Given the description of an element on the screen output the (x, y) to click on. 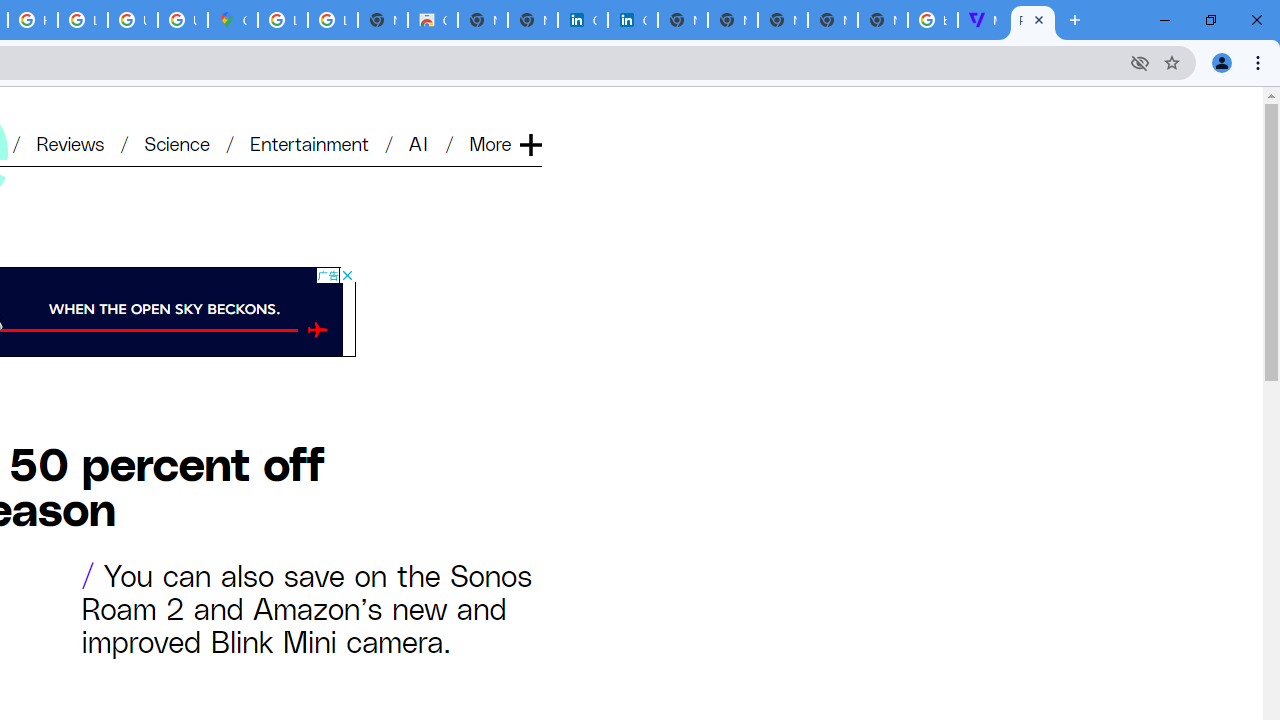
Reviews (69, 142)
AutomationID: cbb (346, 274)
Chrome Web Store (433, 20)
AI (419, 142)
Google Maps (232, 20)
Science (176, 142)
New Tab (882, 20)
